Given the description of an element on the screen output the (x, y) to click on. 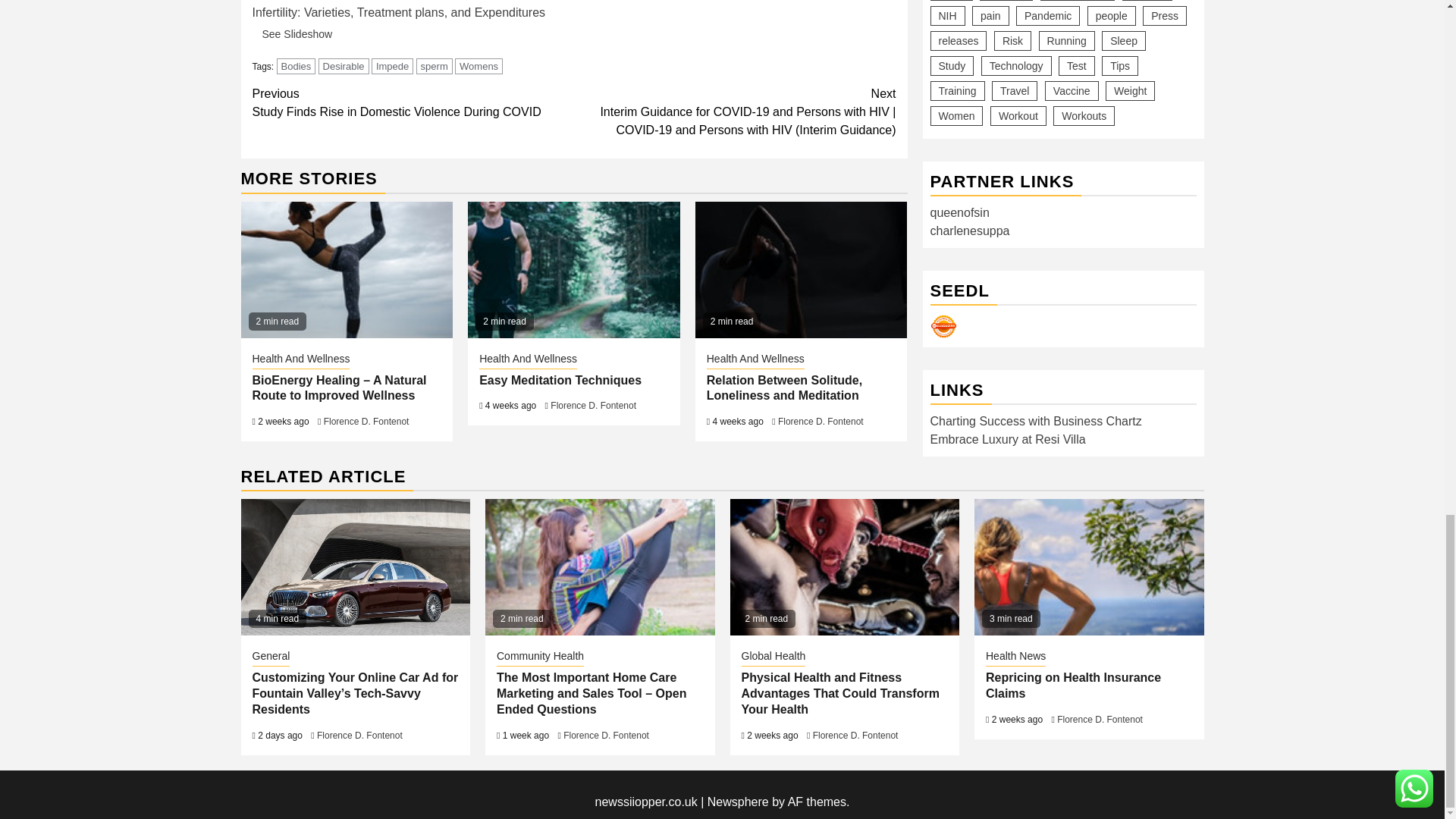
Impede (412, 103)
sperm (392, 66)
Easy Meditation Techniques (434, 66)
Seedbacklink (573, 269)
Relation Between Solitude, Loneliness and Meditation (943, 243)
Desirable (801, 269)
Health And Wellness (343, 66)
Florence D. Fontenot (300, 360)
SLIDESHOW (366, 421)
Bodies (284, 0)
Womens (295, 66)
